Given the description of an element on the screen output the (x, y) to click on. 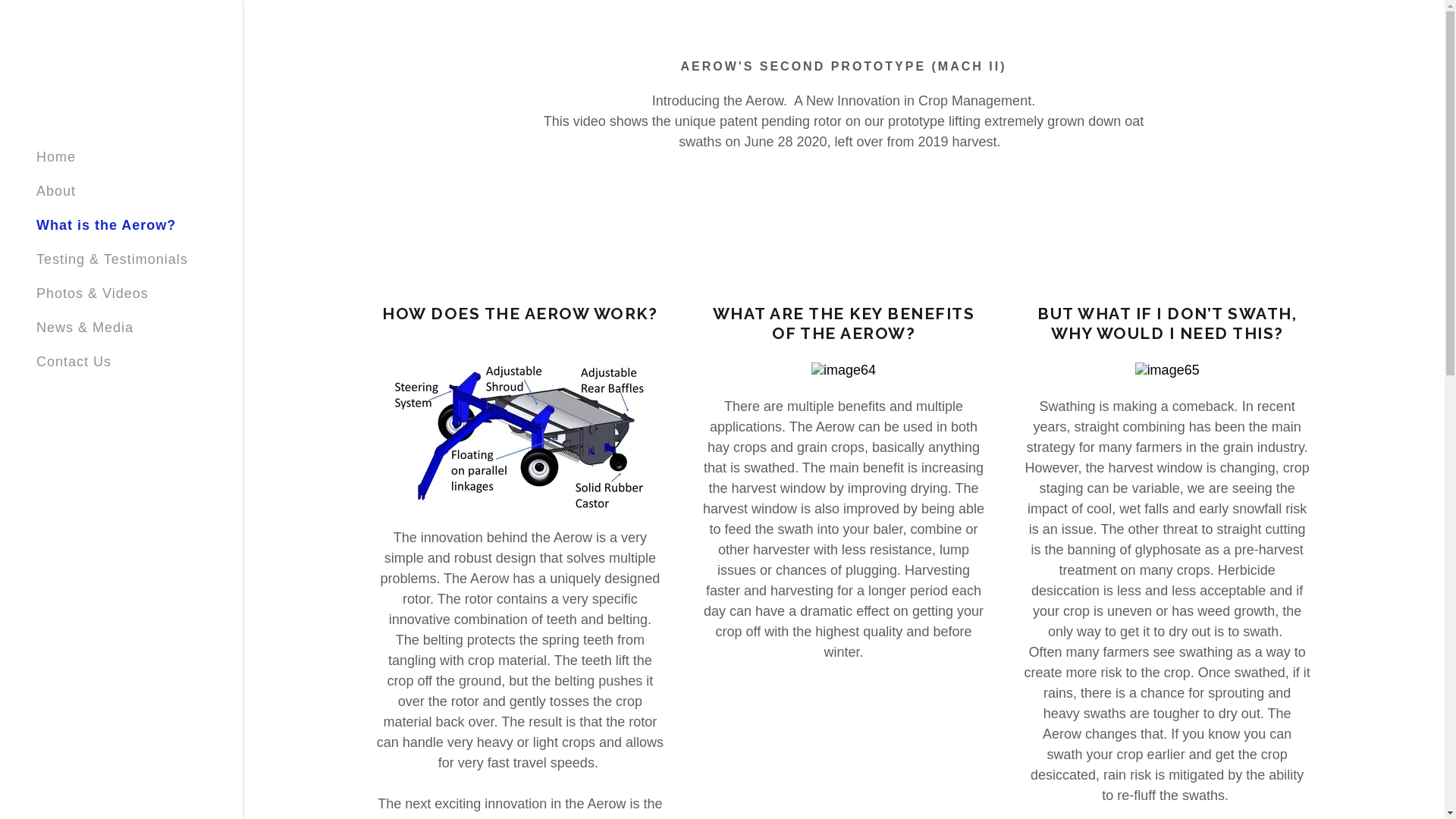
Home Element type: text (55, 156)
Photos & Videos Element type: text (92, 293)
About Element type: text (55, 190)
What is the Aerow? Element type: text (105, 224)
Testing & Testimonials Element type: text (112, 258)
Contact Us Element type: text (73, 361)
News & Media Element type: text (84, 327)
